Given the description of an element on the screen output the (x, y) to click on. 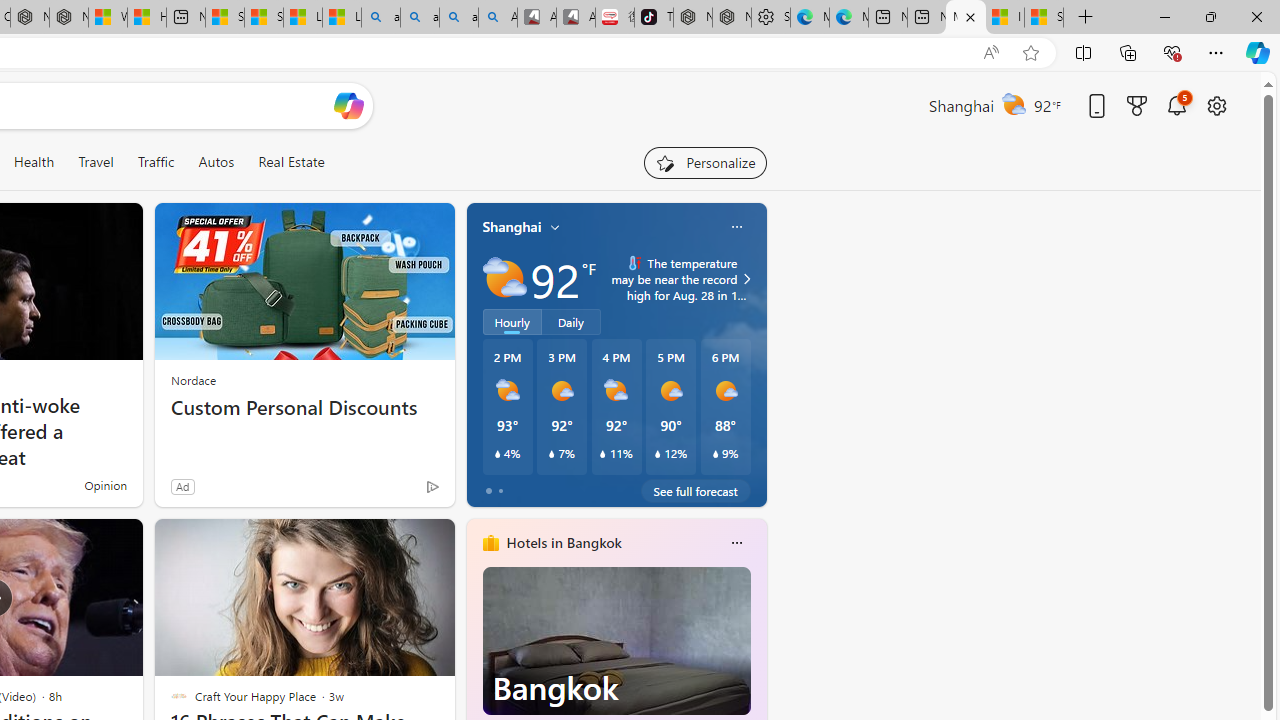
Real Estate (290, 162)
Hide this story (393, 542)
Autos (216, 162)
Health (33, 162)
Hotels in Bangkok (563, 543)
Nordace - Best Sellers (692, 17)
Settings (770, 17)
Amazon Echo Robot - Search Images (497, 17)
Open settings (1216, 105)
